Given the description of an element on the screen output the (x, y) to click on. 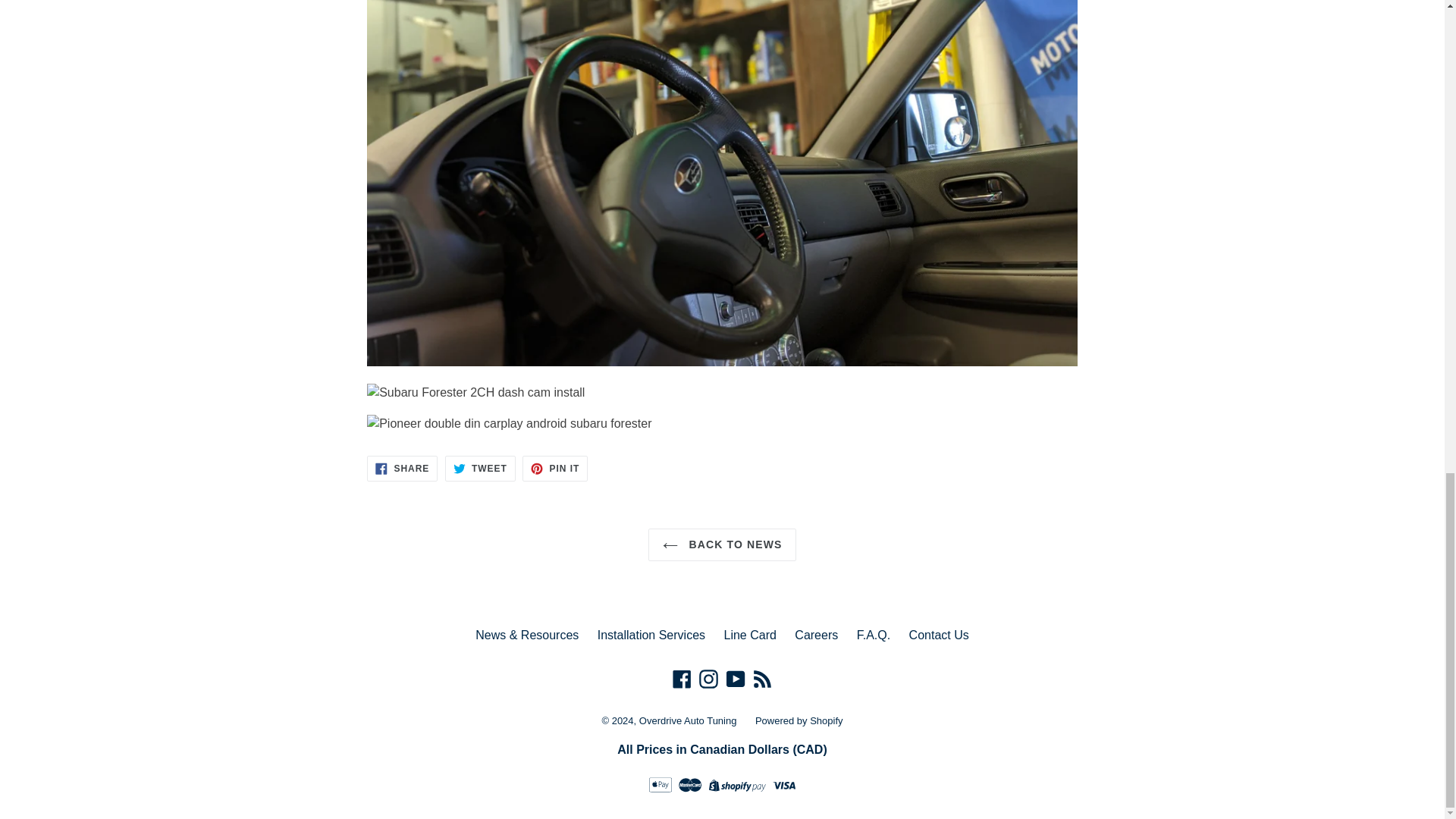
Pin on Pinterest (555, 468)
Tweet on Twitter (480, 468)
Share on Facebook (402, 468)
Overdrive Auto Tuning on Facebook (681, 678)
Overdrive Auto Tuning on Instagram (708, 678)
Overdrive Auto Tuning on YouTube (735, 678)
